Given the description of an element on the screen output the (x, y) to click on. 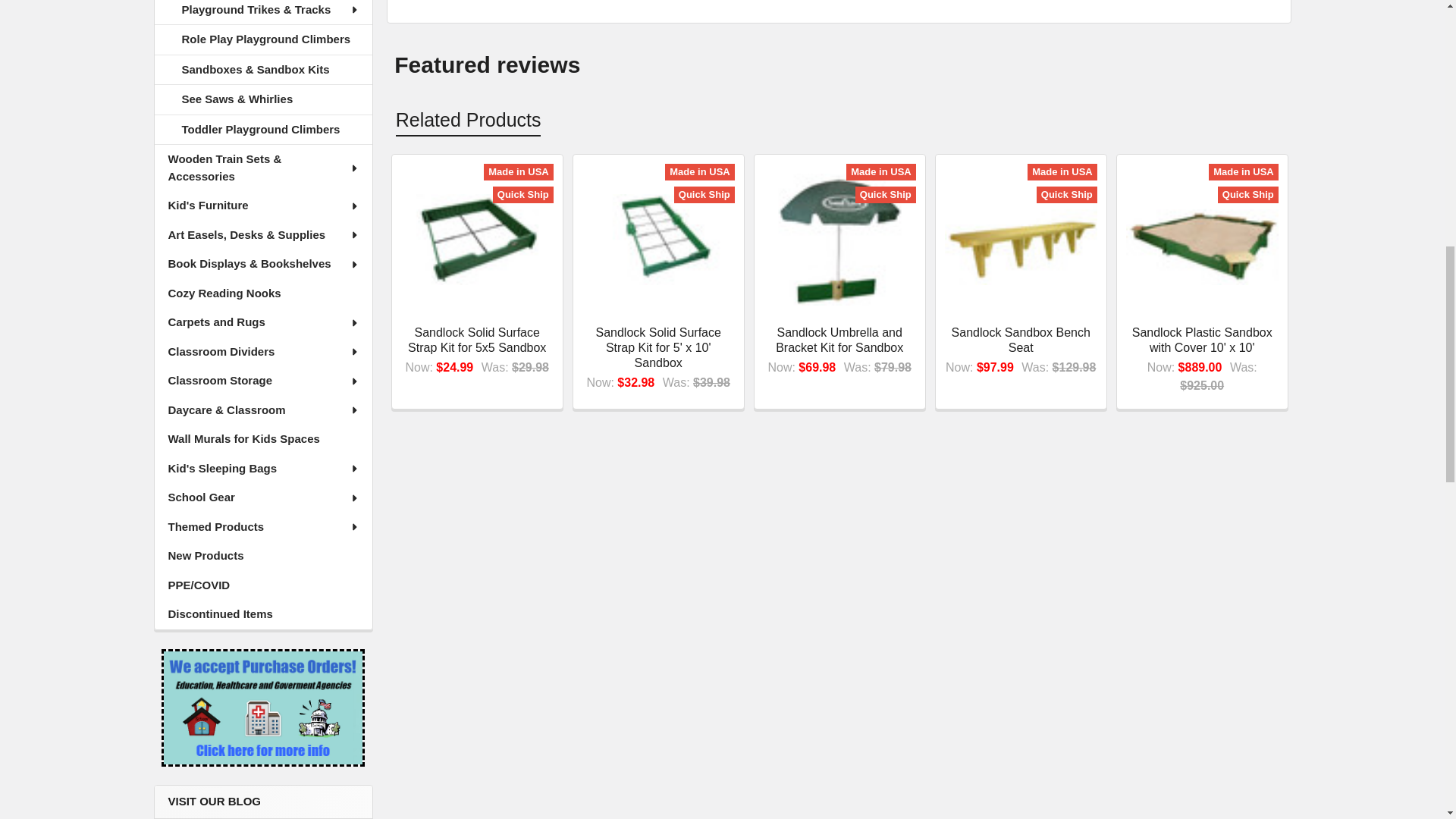
Sandlock Solid Surface Strap Kit for 5' x 10' Sandbox (658, 239)
Sandlock Sandbox Bench Seat (1020, 239)
Sandlock Umbrella and Bracket Kit for Sandbox (838, 238)
Sandlock Solid Surface Strap Kit for 5x5 Sandbox (477, 239)
Sandlock 10' x 10' Plastic Sandbox (1201, 239)
